Given the description of an element on the screen output the (x, y) to click on. 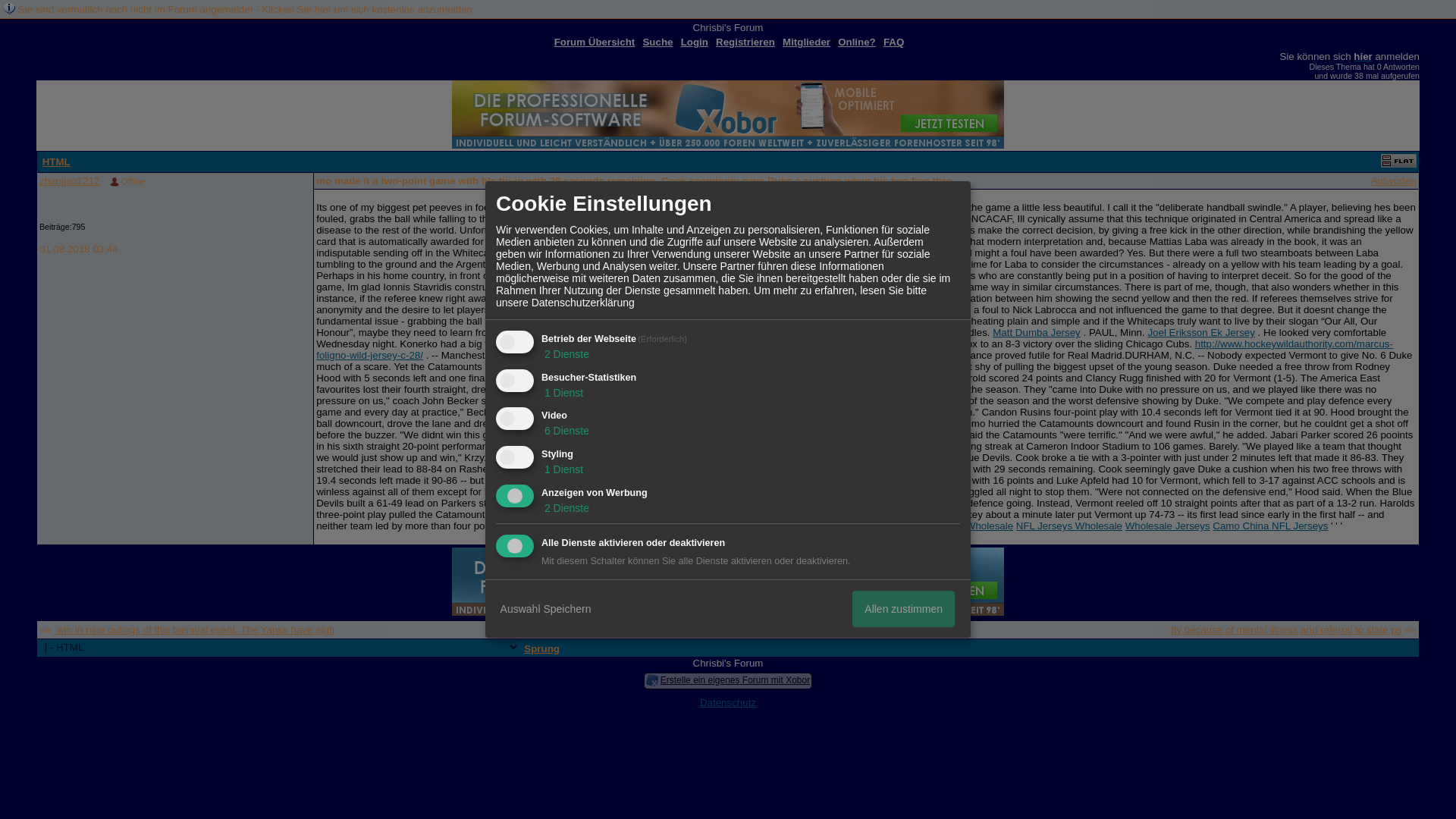
HTML (55, 161)
zhanjiao1212 (69, 180)
NFL Jerseys Wholesale (1069, 525)
FAQ (893, 41)
hier (1362, 56)
Erstelle dein eigenes Forum mit Xobor (727, 581)
Joel Eriksson Ek Jersey (1200, 332)
Online? (857, 41)
2 Dienste (565, 354)
